Given the description of an element on the screen output the (x, y) to click on. 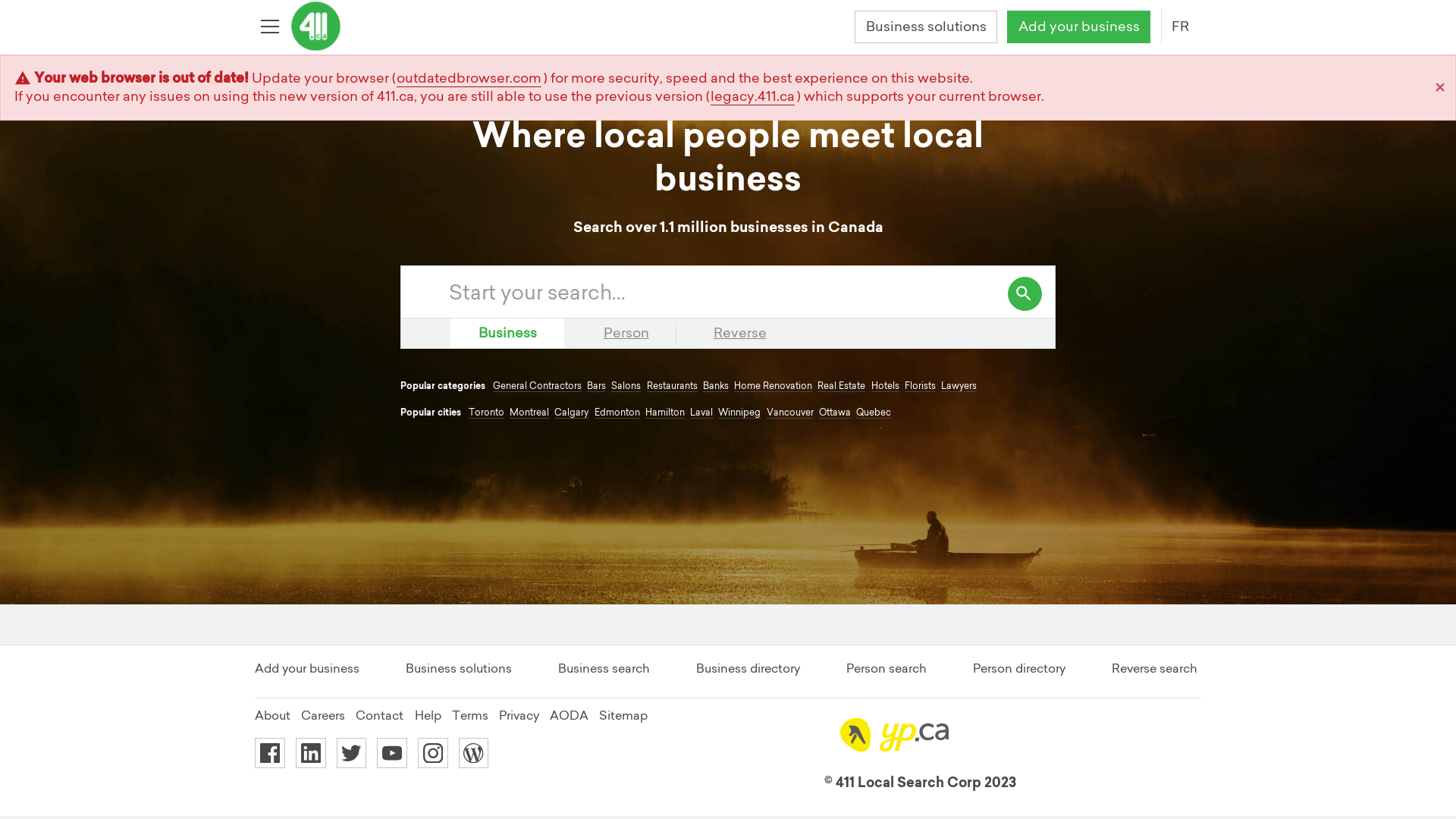
Person search Element type: text (886, 667)
legacy.411.ca Element type: text (752, 96)
Home Renovation Element type: text (773, 385)
Ottawa Element type: text (834, 412)
FR Element type: text (1179, 26)
Restaurants Element type: text (671, 385)
Lawyers Element type: text (958, 385)
Vancouver Element type: text (789, 412)
Banks Element type: text (715, 385)
Privacy Element type: text (518, 714)
Business search Element type: text (603, 667)
outdatedbrowser.com Element type: text (468, 78)
Business solutions Element type: text (458, 667)
Business solutions Element type: text (925, 26)
Quebec Element type: text (873, 412)
Montreal Element type: text (529, 412)
Terms Element type: text (469, 714)
Winnipeg Element type: text (739, 412)
AODA Element type: text (568, 714)
Add your business Element type: text (306, 667)
Careers Element type: text (323, 714)
Salons Element type: text (625, 385)
Real Estate Element type: text (841, 385)
General Contractors Element type: text (536, 385)
Business directory Element type: text (748, 667)
Sitemap Element type: text (623, 714)
Add your business Element type: text (1078, 26)
Contact Element type: text (379, 714)
Hotels Element type: text (885, 385)
Calgary Element type: text (571, 412)
Toronto Element type: text (486, 412)
Edmonton Element type: text (617, 412)
Hamilton Element type: text (664, 412)
About Element type: text (272, 714)
Help Element type: text (427, 714)
Florists Element type: text (919, 385)
Bars Element type: text (595, 385)
Person directory Element type: text (1018, 667)
Laval Element type: text (701, 412)
Reverse search Element type: text (1154, 667)
